Given the description of an element on the screen output the (x, y) to click on. 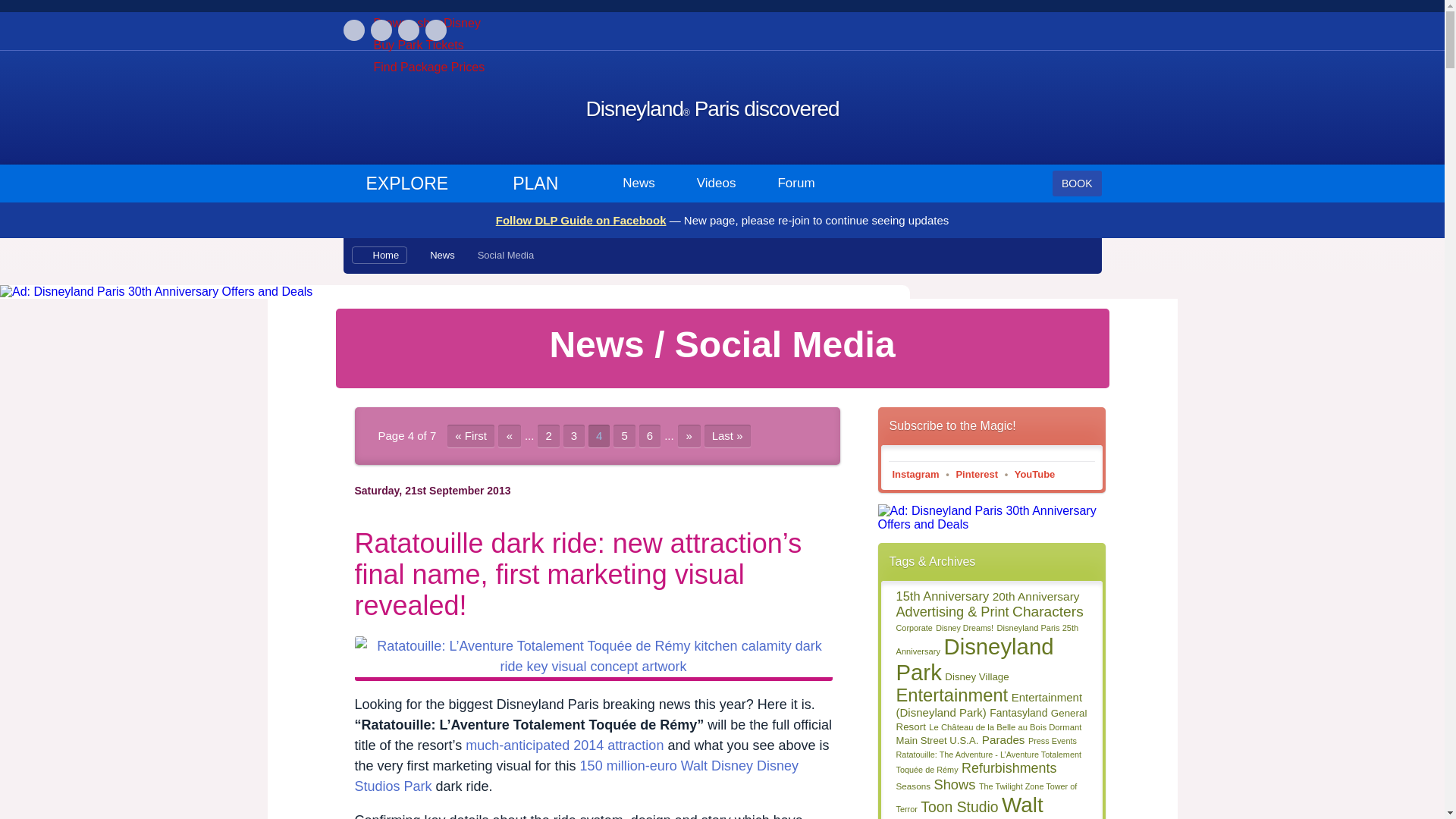
Official Disneyland Paris Ticket Bookings (417, 44)
News (441, 255)
PLAN (544, 183)
Browse shopDisney (426, 22)
Home (379, 254)
Disneyland Paris 30th Anniversary Offers and Deals (379, 291)
Videos (716, 183)
Find Package Prices (428, 66)
2 (548, 436)
Page 6 (650, 436)
Page 3 (574, 436)
Page 5 (623, 436)
Official shopDisney online store (426, 22)
DLP Guide on YouTube (435, 29)
Forum (795, 183)
